Given the description of an element on the screen output the (x, y) to click on. 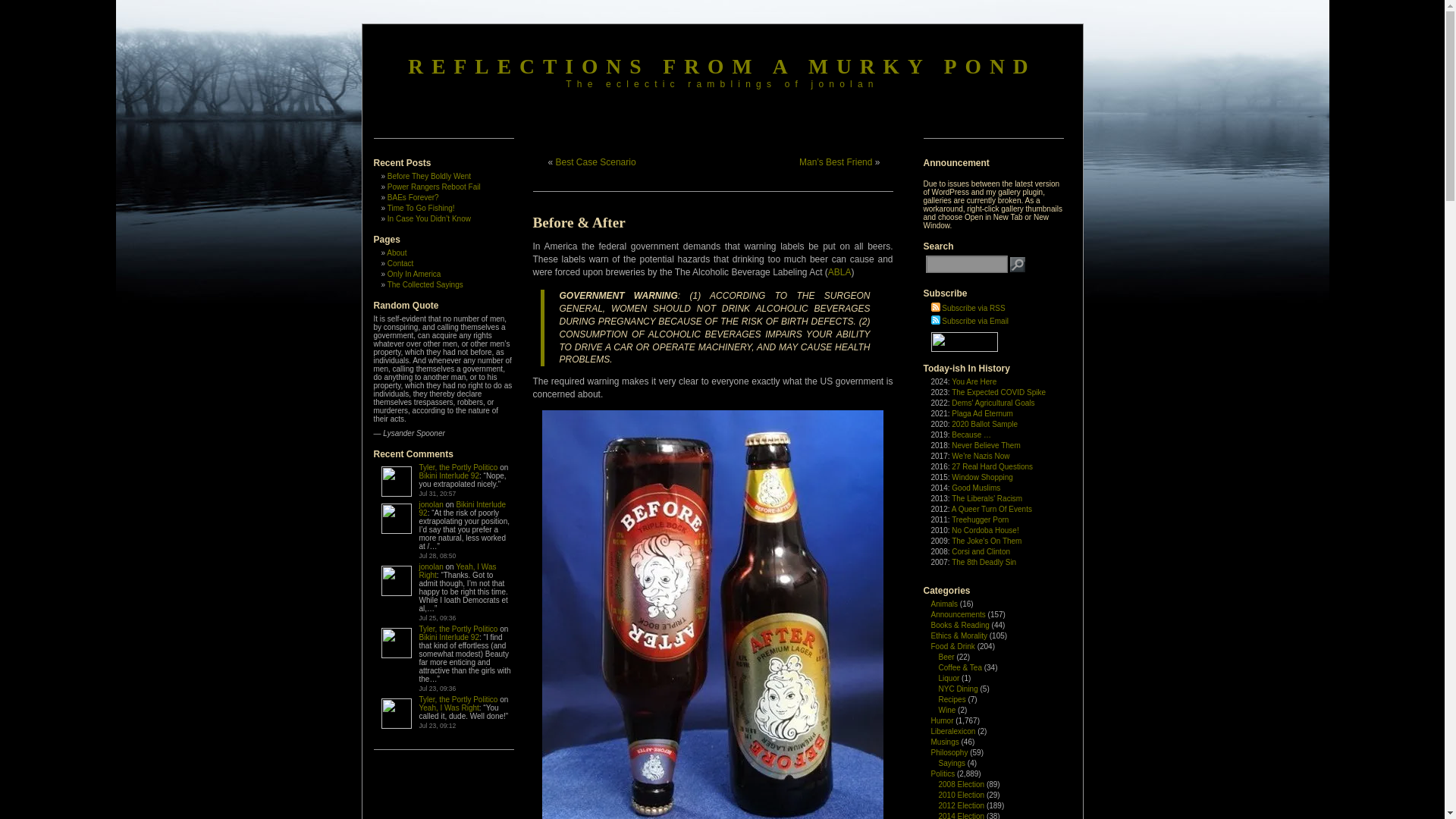
Bikini Interlude 92 (449, 475)
Tyler, the Portly Politico (458, 628)
Only In America (414, 274)
Yeah, I Was Right (457, 570)
Yeah, I Was Right (449, 707)
jonolan (430, 566)
Before They Boldly Went (428, 175)
About (396, 252)
The Collected Sayings (425, 284)
Time To Go Fishing! (420, 207)
